Given the description of an element on the screen output the (x, y) to click on. 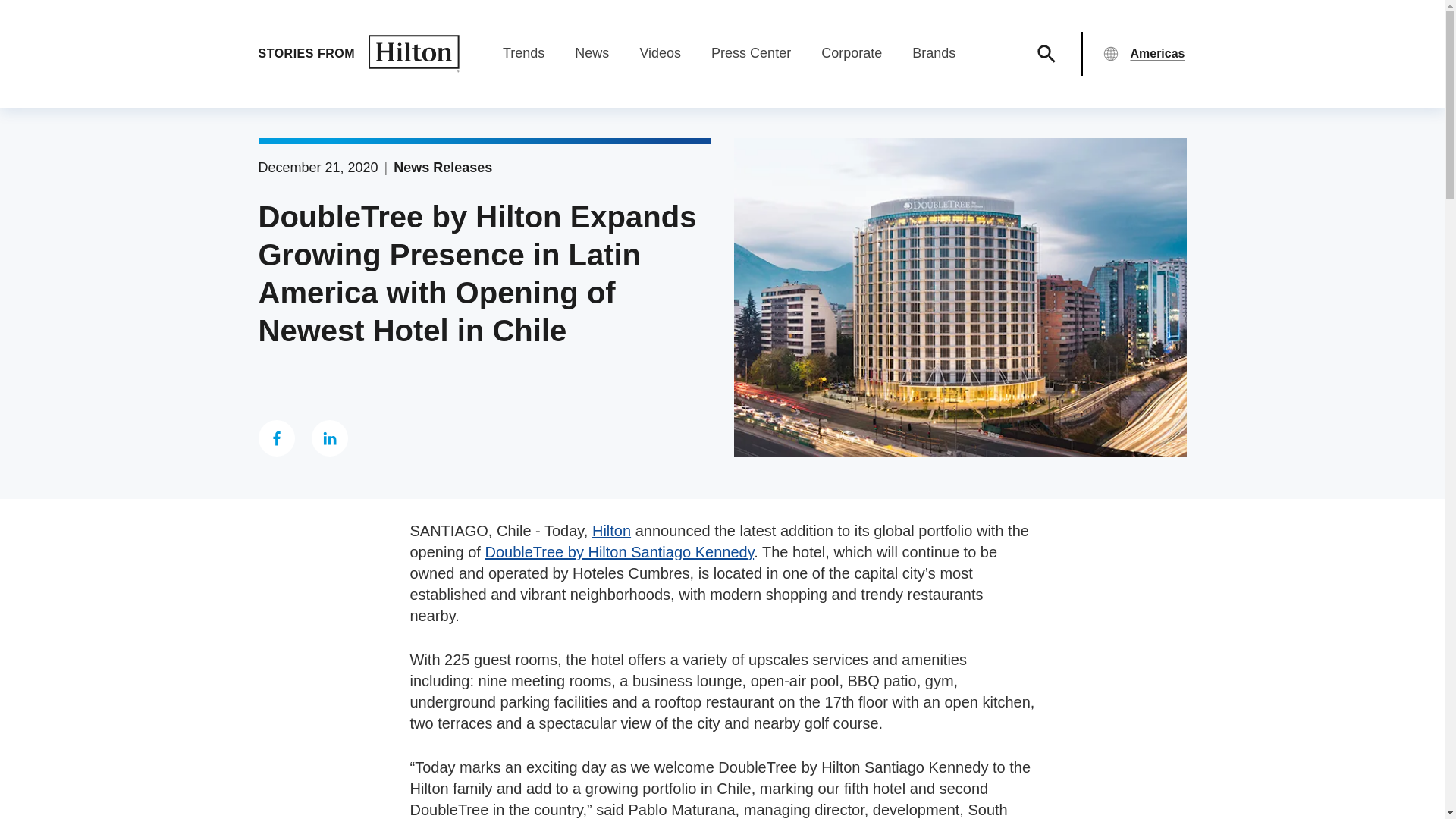
Stories From Hilton (358, 53)
Trends (523, 61)
Corporate (851, 61)
Videos (660, 61)
STORIES FROM (358, 53)
News (591, 61)
Press Center (750, 61)
